Given the description of an element on the screen output the (x, y) to click on. 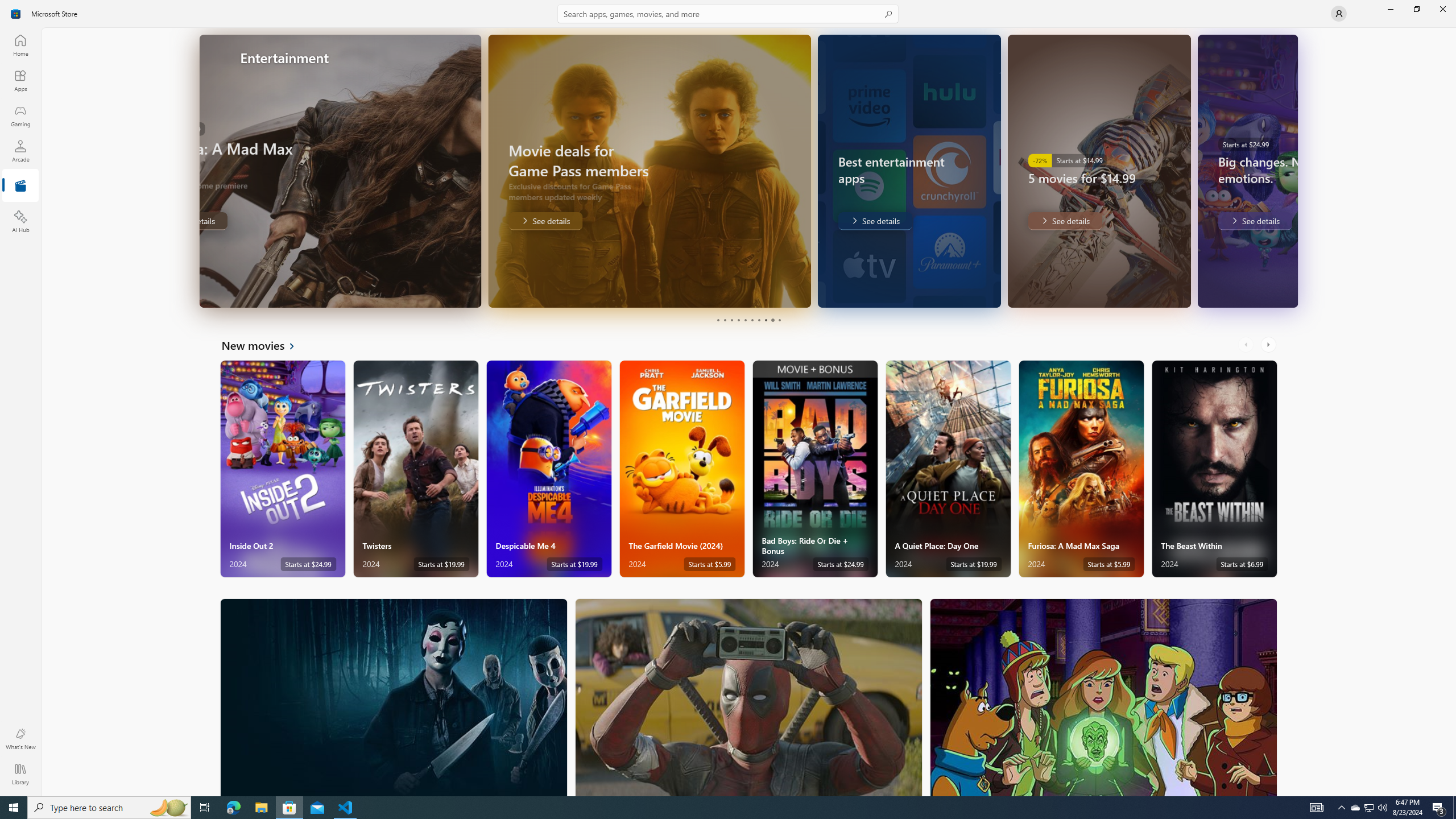
See all  New movies (264, 345)
Page 2 (724, 319)
Page 4 (738, 319)
Pager (748, 319)
AutomationID: LeftScrollButton (1246, 344)
AutomationID: PosterImage (1103, 697)
Page 6 (751, 319)
AutomationID: Image (1290, 170)
